Given the description of an element on the screen output the (x, y) to click on. 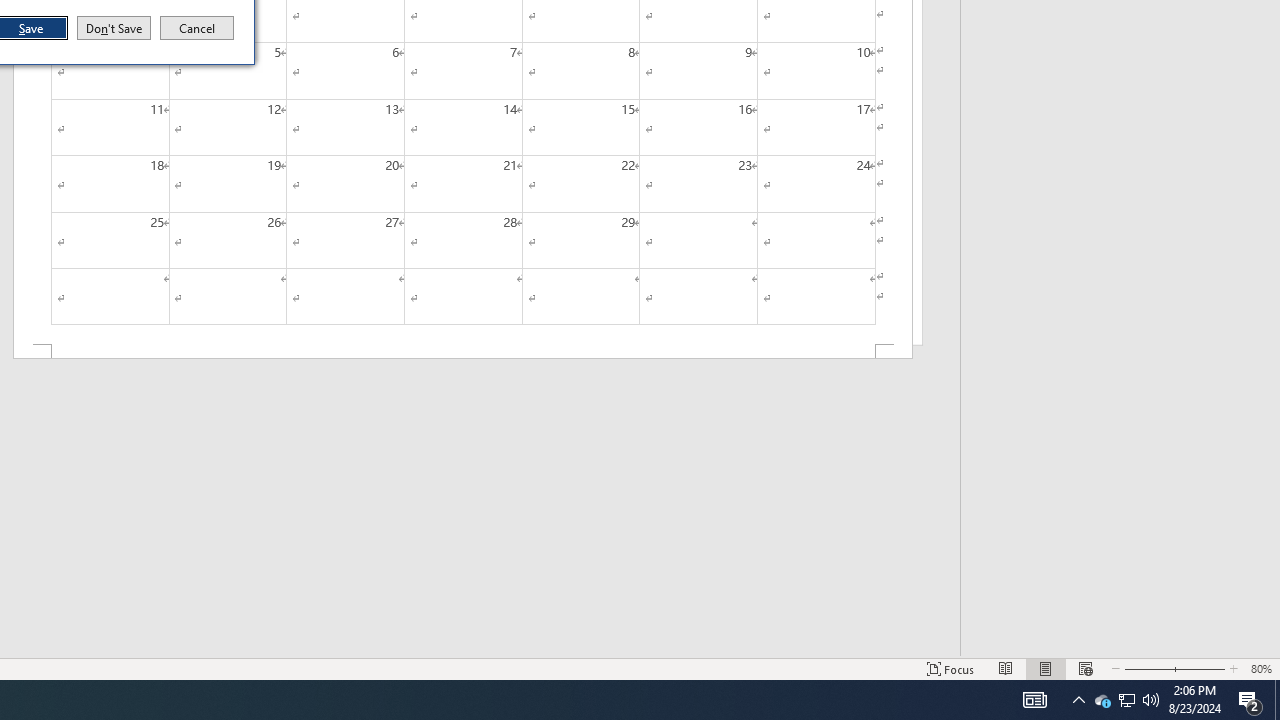
Footer -Section 2- (462, 351)
